Given the description of an element on the screen output the (x, y) to click on. 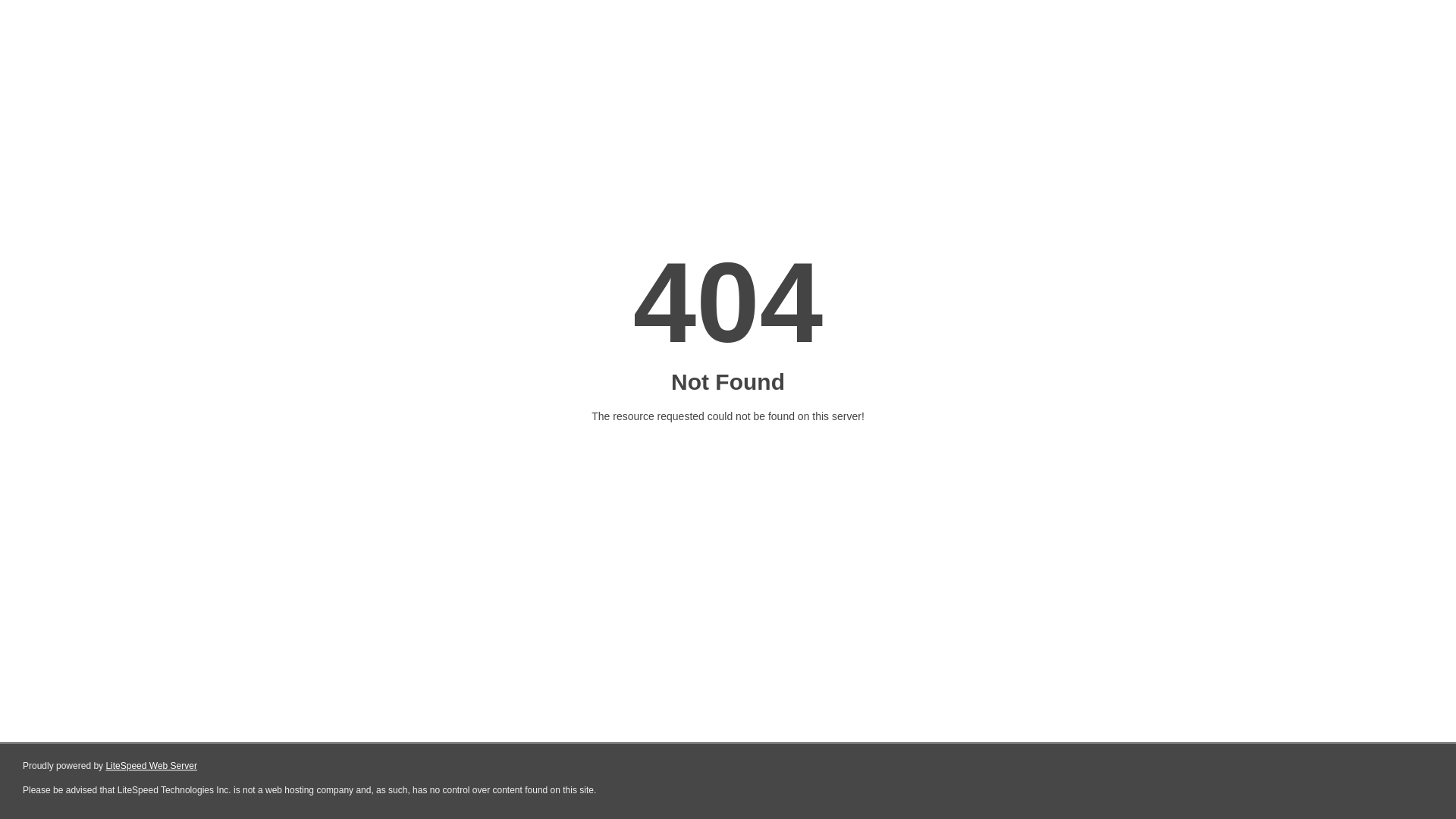
LiteSpeed Web Server Element type: text (151, 765)
